Given the description of an element on the screen output the (x, y) to click on. 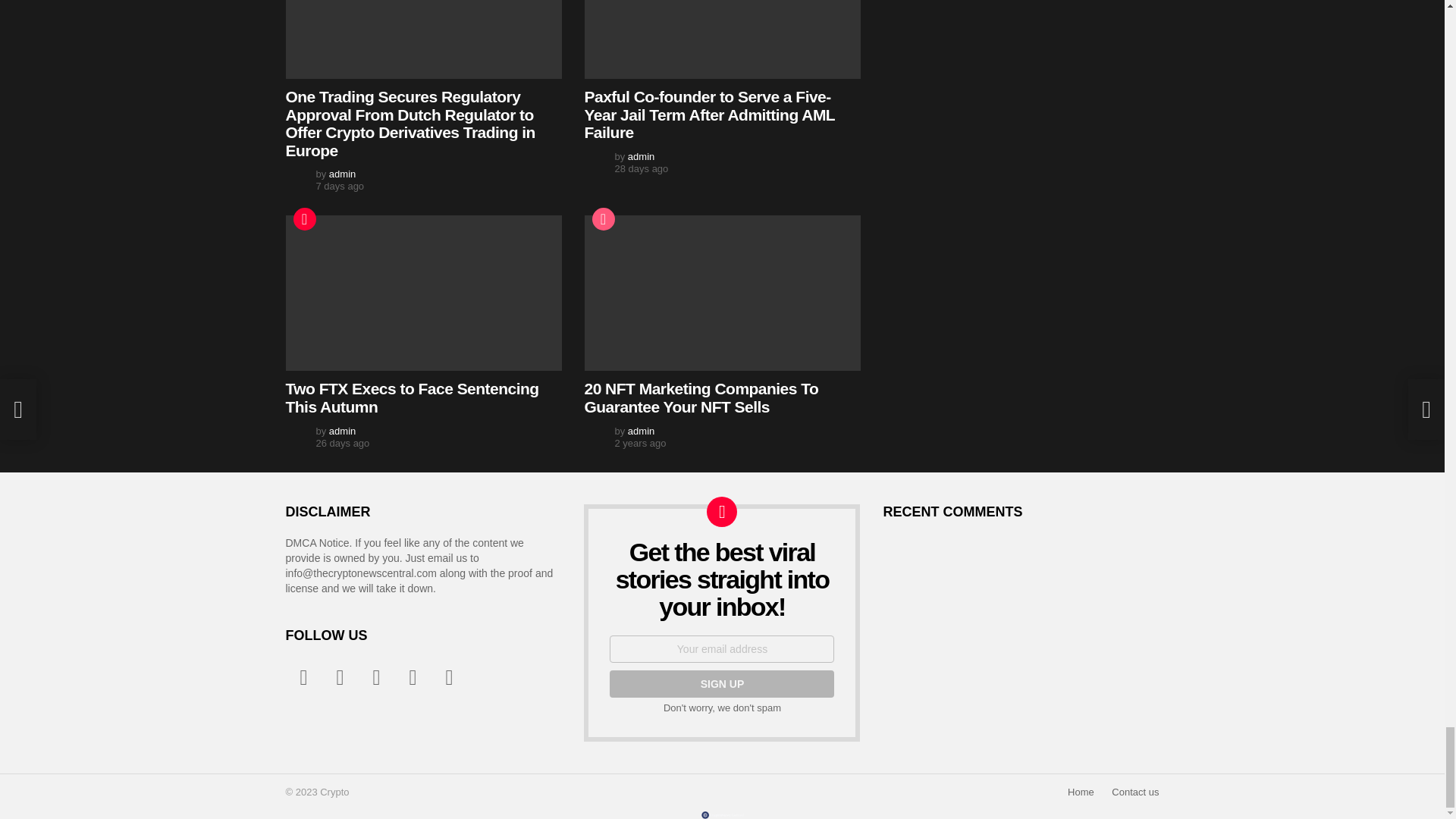
Sign up (722, 683)
